Given the description of an element on the screen output the (x, y) to click on. 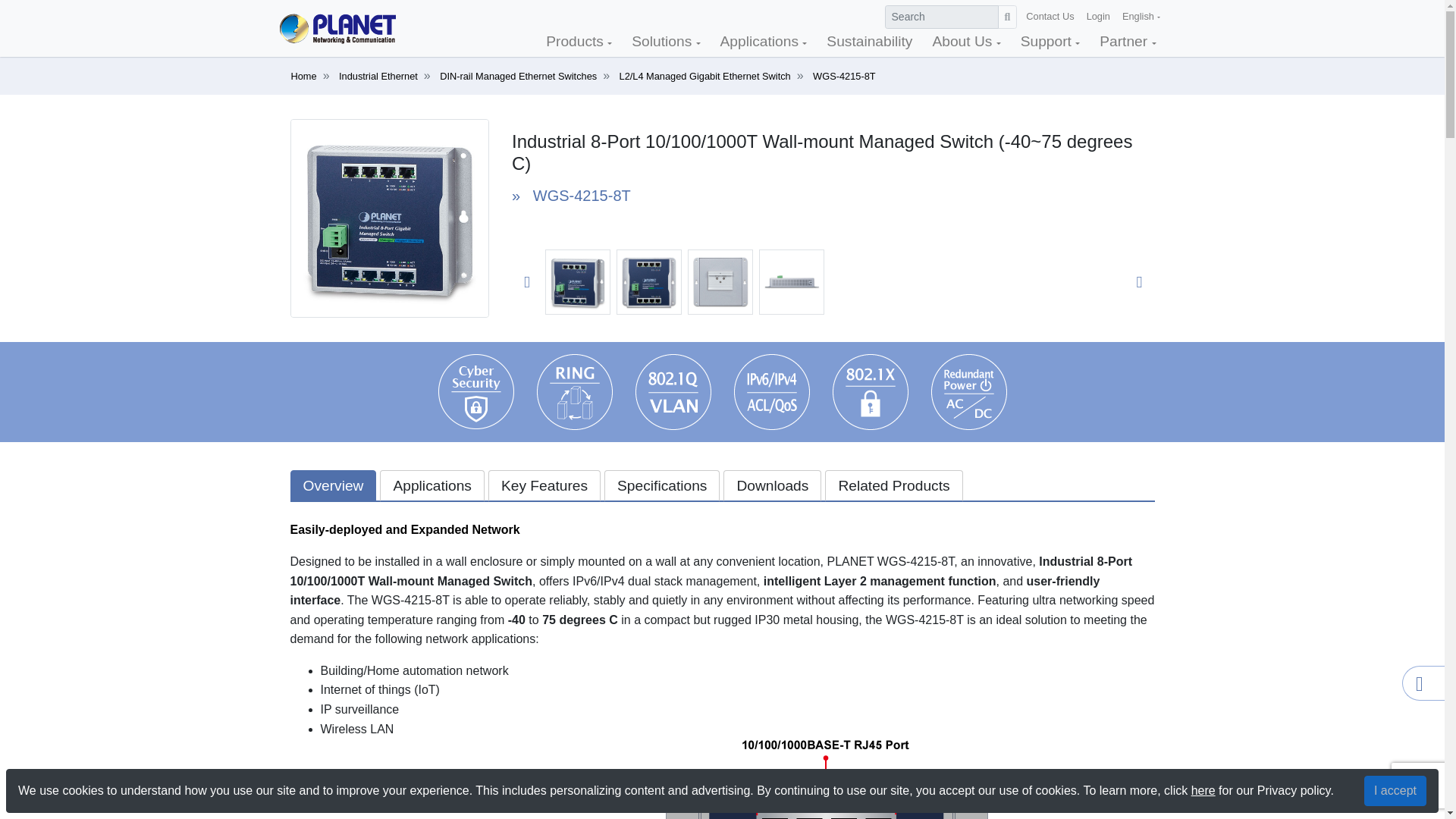
Solutions (665, 42)
Product Photo (389, 216)
English (1141, 16)
Products (578, 42)
Contact Us (1050, 16)
Applications (763, 42)
Login (1098, 16)
